Given the description of an element on the screen output the (x, y) to click on. 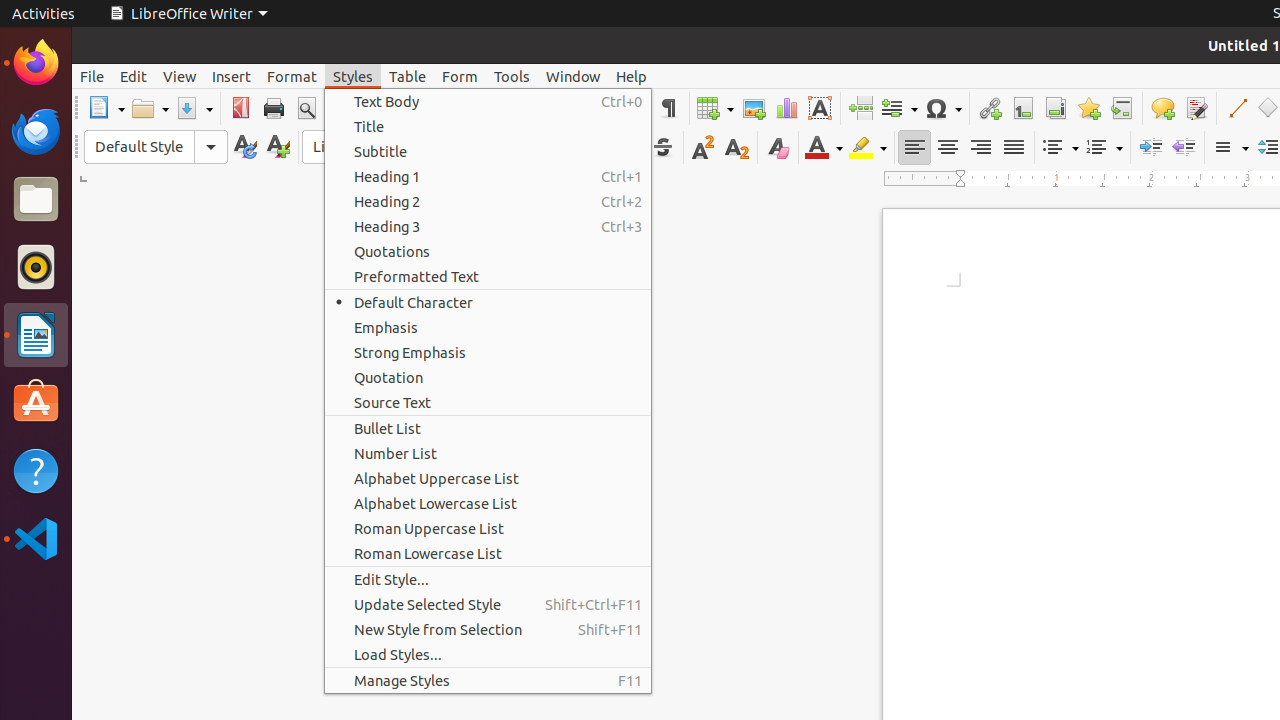
Print Element type: push-button (273, 108)
New Element type: push-button (277, 147)
Ubuntu Software Element type: push-button (36, 402)
Field Element type: push-button (899, 108)
